Given the description of an element on the screen output the (x, y) to click on. 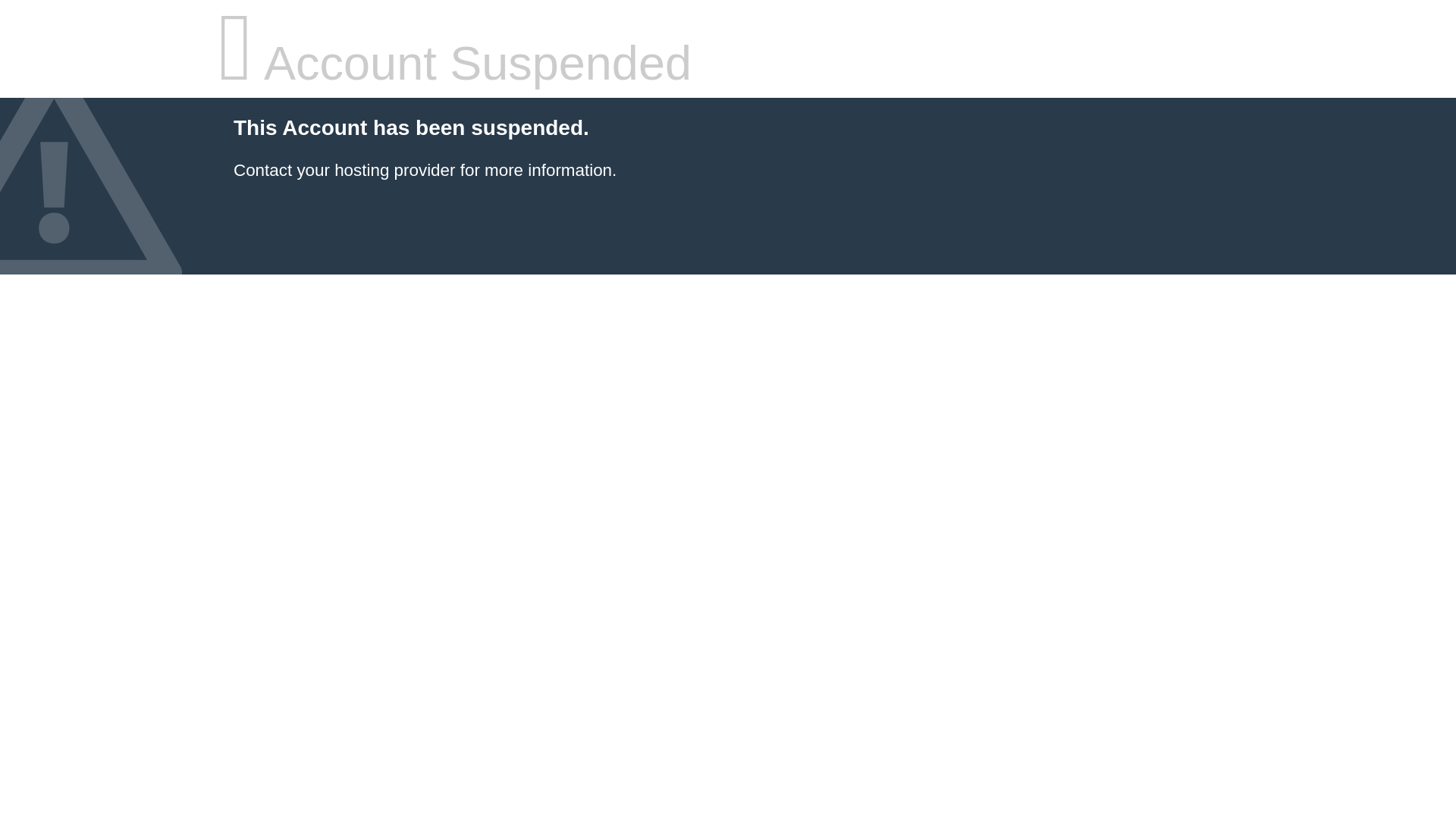
Contact your hosting provider (343, 169)
SiteJungle (343, 169)
